Given the description of an element on the screen output the (x, y) to click on. 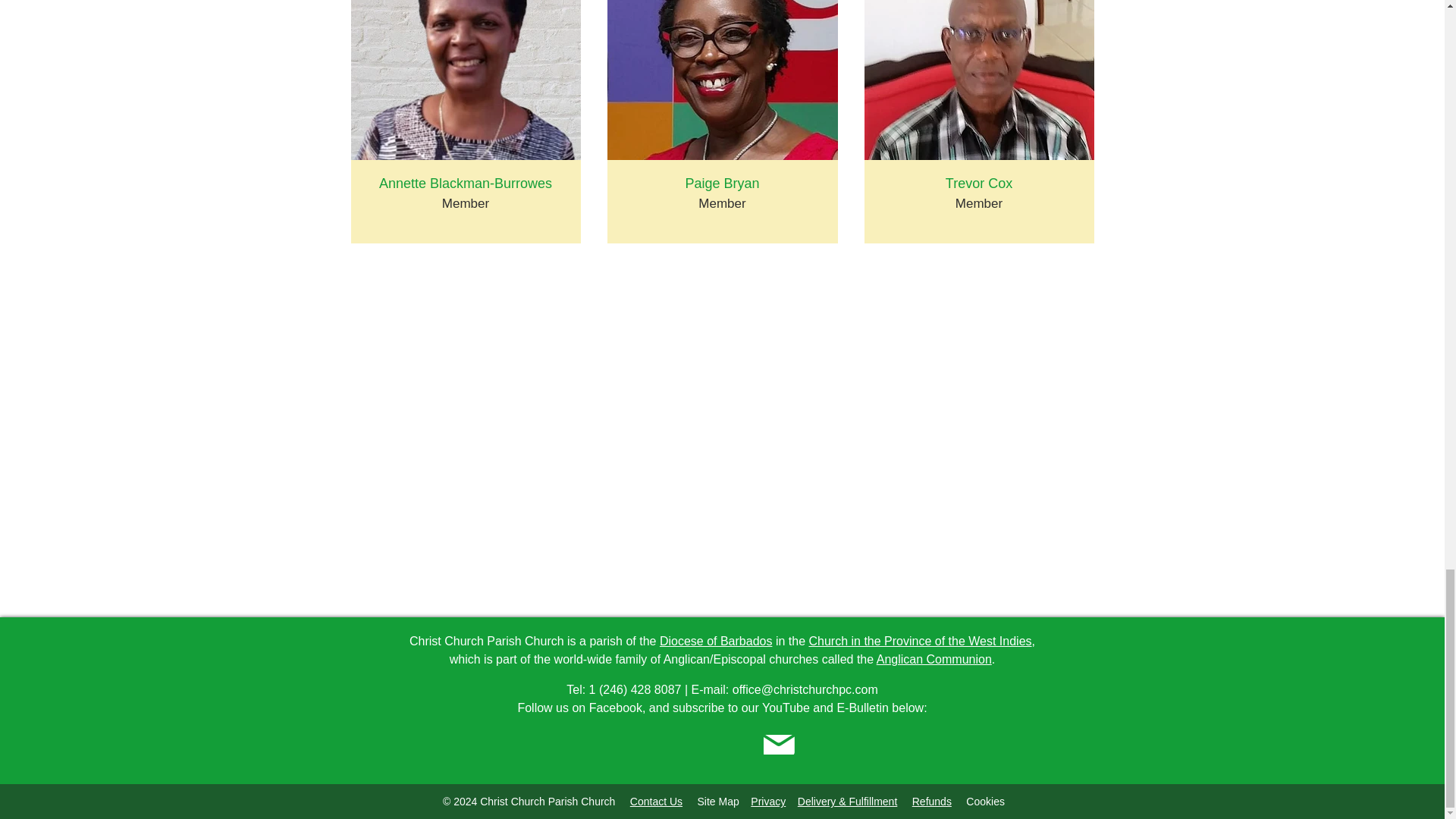
Refunds (932, 801)
Church in the Province of the West Indies (919, 640)
Contact Us (656, 801)
Diocese of Barbados (716, 640)
Anglican Communion (933, 658)
Privacy (768, 801)
